Given the description of an element on the screen output the (x, y) to click on. 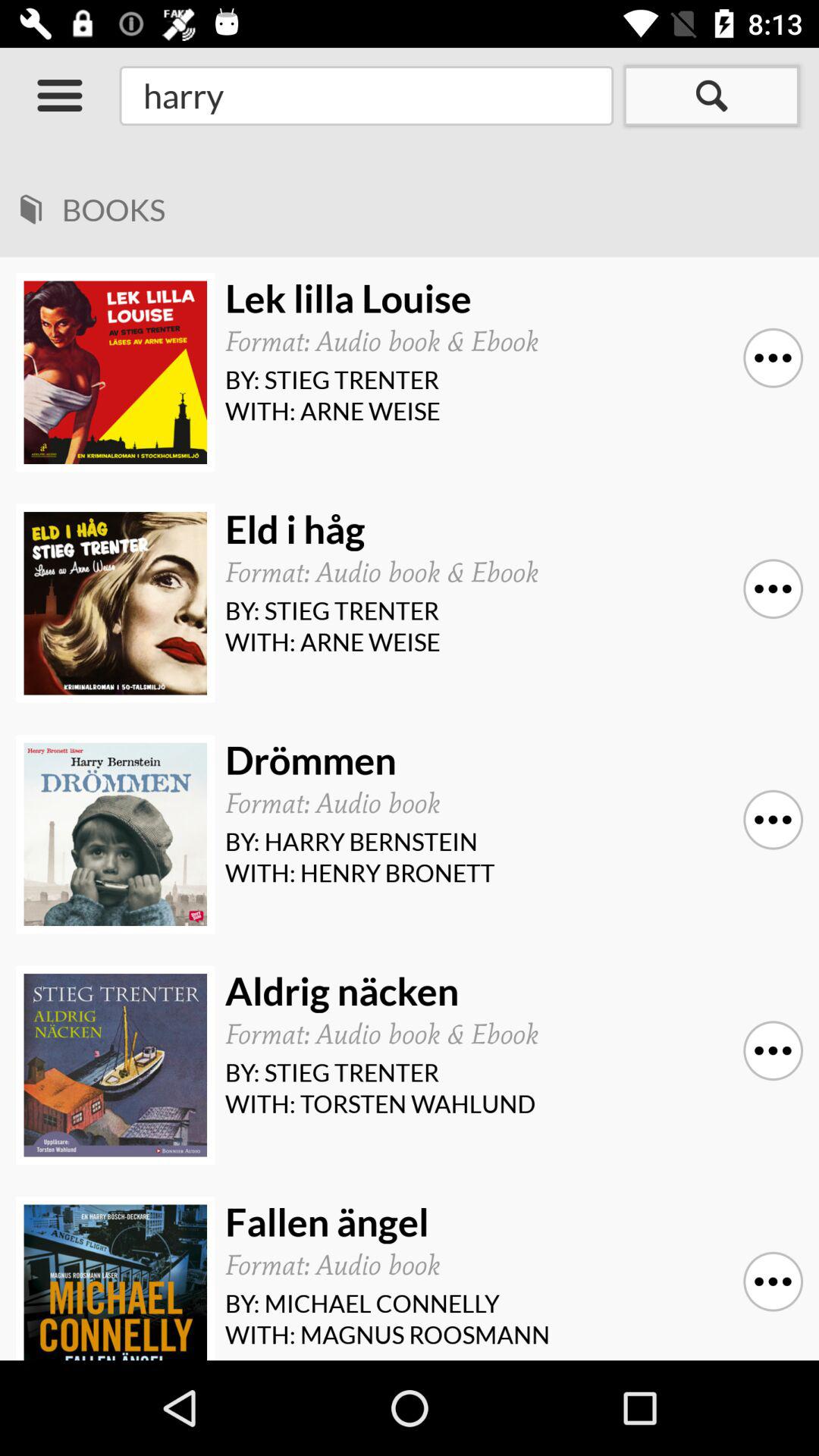
turn off icon above the format audio book (508, 298)
